Given the description of an element on the screen output the (x, y) to click on. 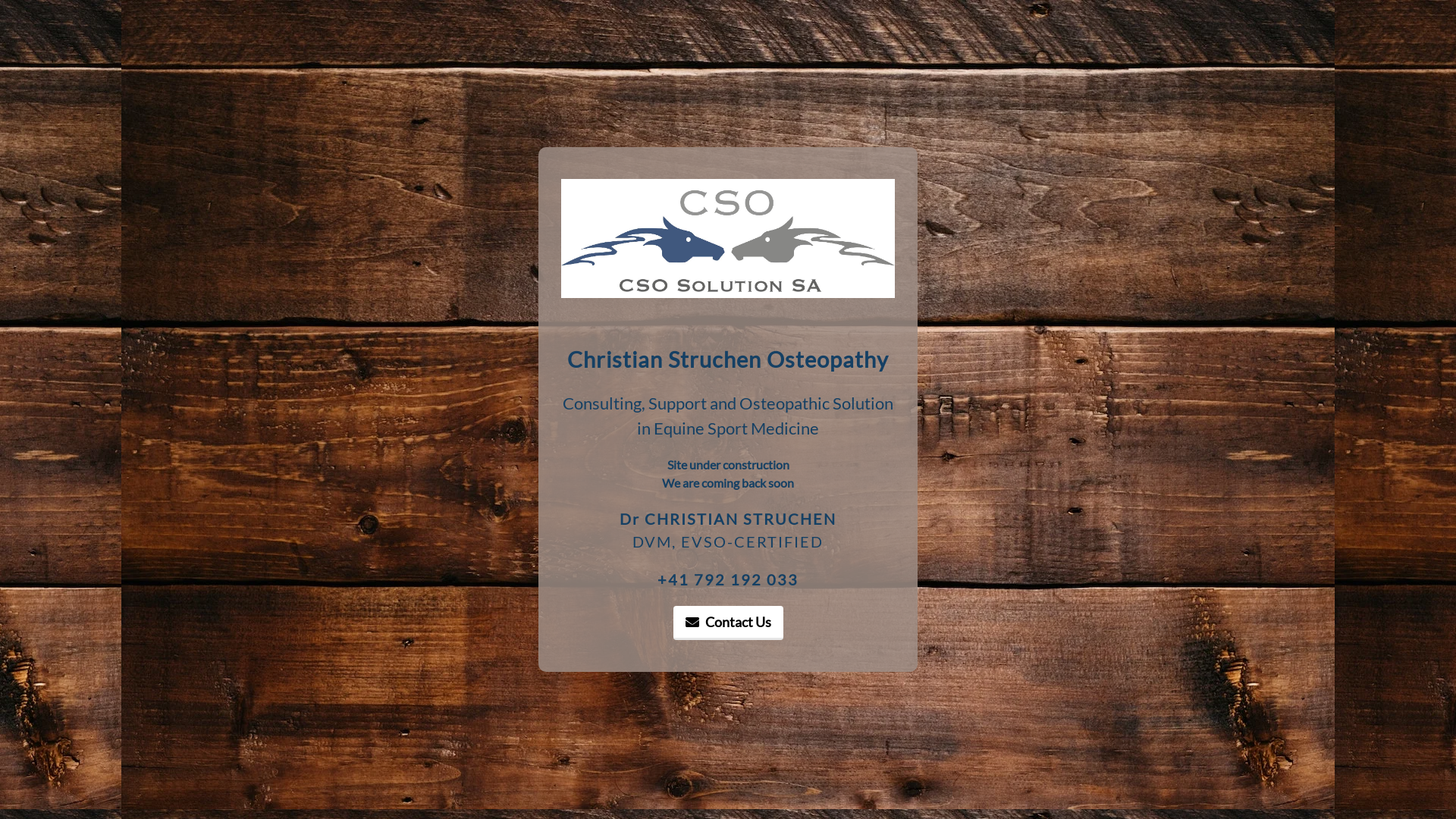
Contact Us Element type: text (728, 622)
